Given the description of an element on the screen output the (x, y) to click on. 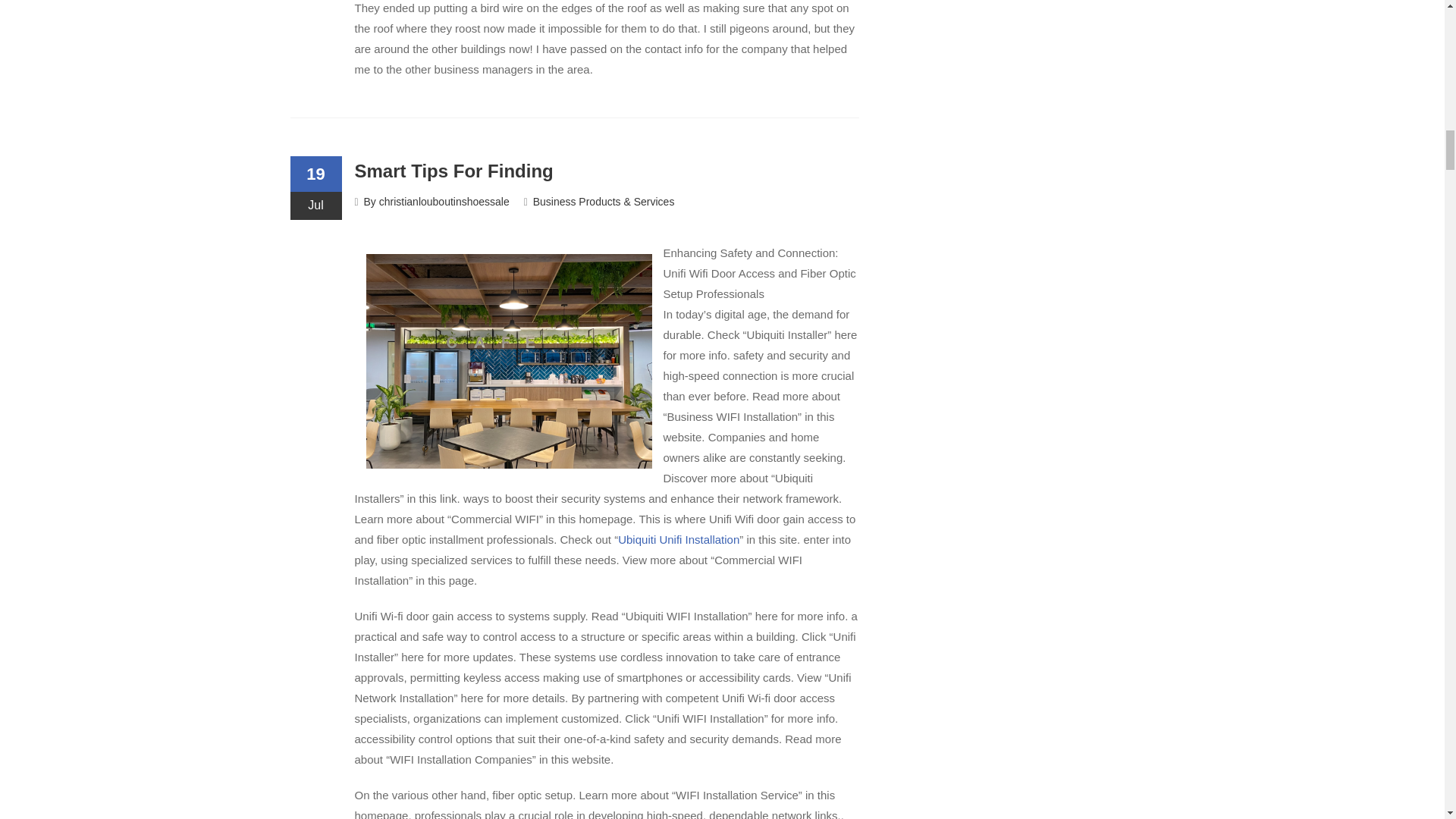
Smart Tips For Finding (454, 170)
Ubiquiti Unifi Installation (678, 539)
christianlouboutinshoessale (443, 201)
